Given the description of an element on the screen output the (x, y) to click on. 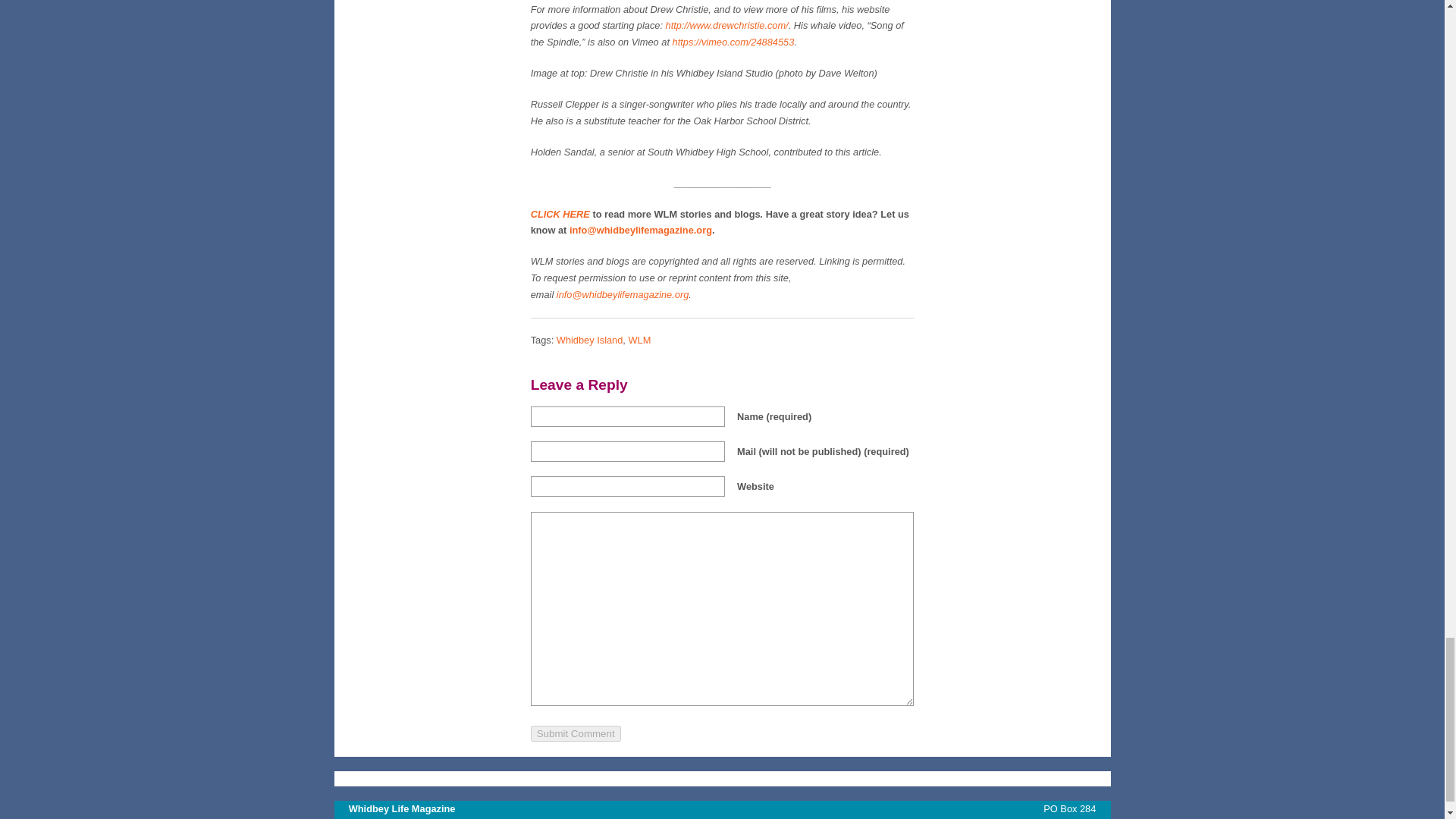
Submit Comment (576, 733)
